Given the description of an element on the screen output the (x, y) to click on. 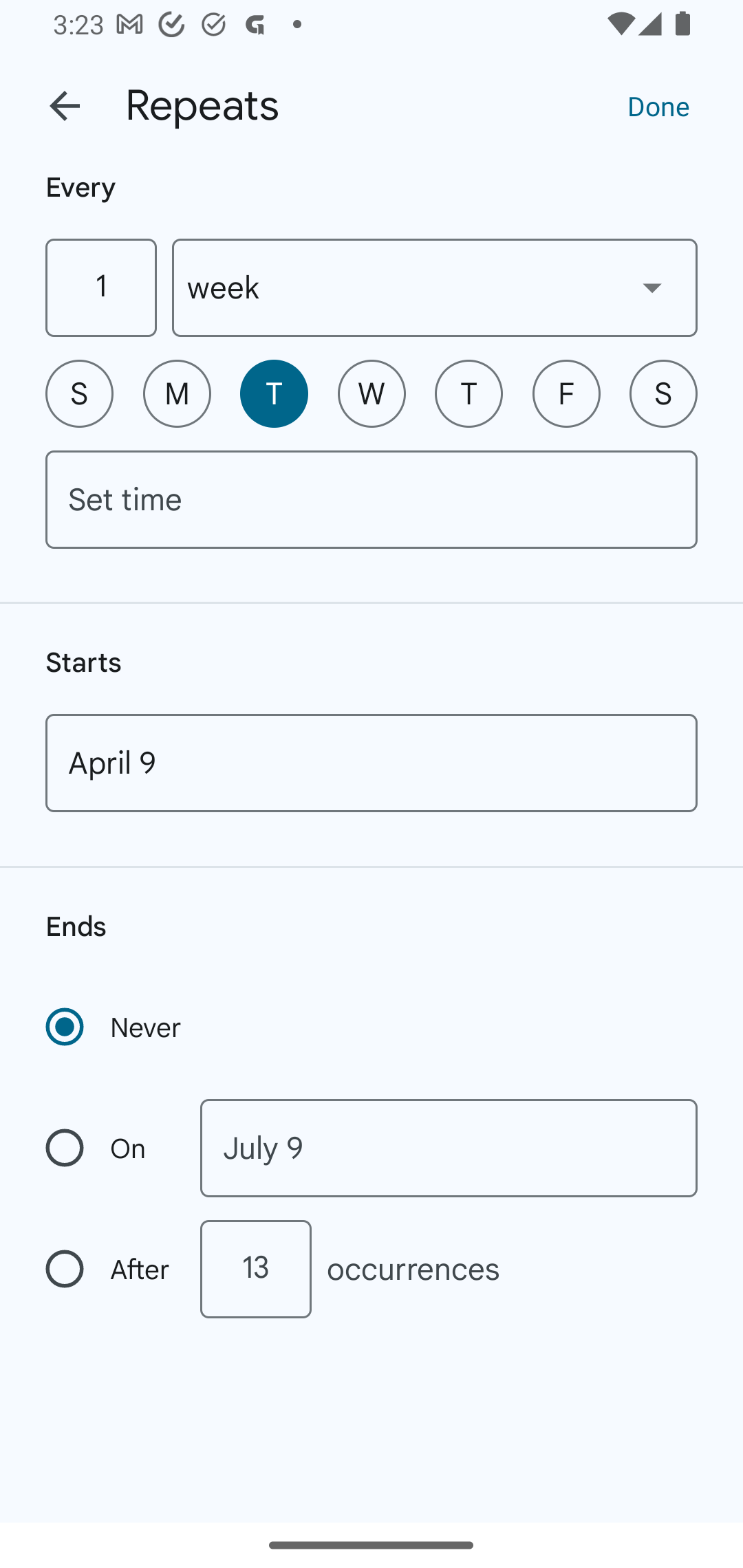
Back (64, 105)
Done (658, 105)
1 (100, 287)
week (434, 287)
Show dropdown menu (652, 286)
S Sunday (79, 393)
M Monday (177, 393)
T Tuesday, selected (273, 393)
W Wednesday (371, 393)
T Thursday (468, 393)
F Friday (566, 393)
S Saturday (663, 393)
Set time (371, 499)
April 9 (371, 762)
Never Recurrence never ends (115, 1026)
July 9 (448, 1148)
On Recurrence ends on a specific date (109, 1148)
13 (255, 1268)
